Given the description of an element on the screen output the (x, y) to click on. 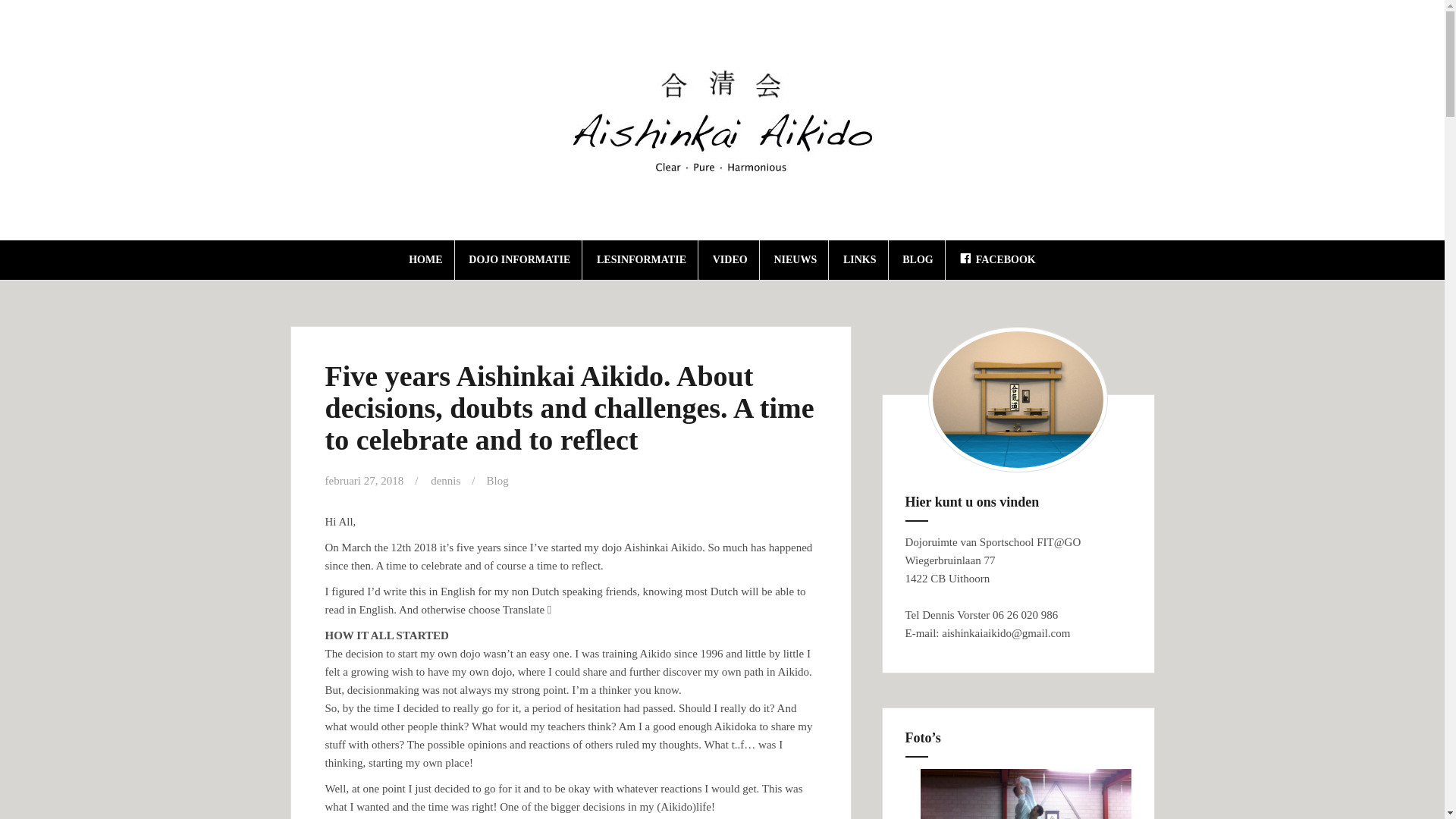
NIEUWS (794, 259)
februari 27, 2018 (363, 480)
DOJO INFORMATIE (519, 259)
dennis (445, 480)
HOME (425, 259)
LESINFORMATIE (640, 259)
LINKS (859, 259)
FACEBOOK (997, 259)
BLOG (917, 259)
VIDEO (730, 259)
Blog (497, 480)
